Given the description of an element on the screen output the (x, y) to click on. 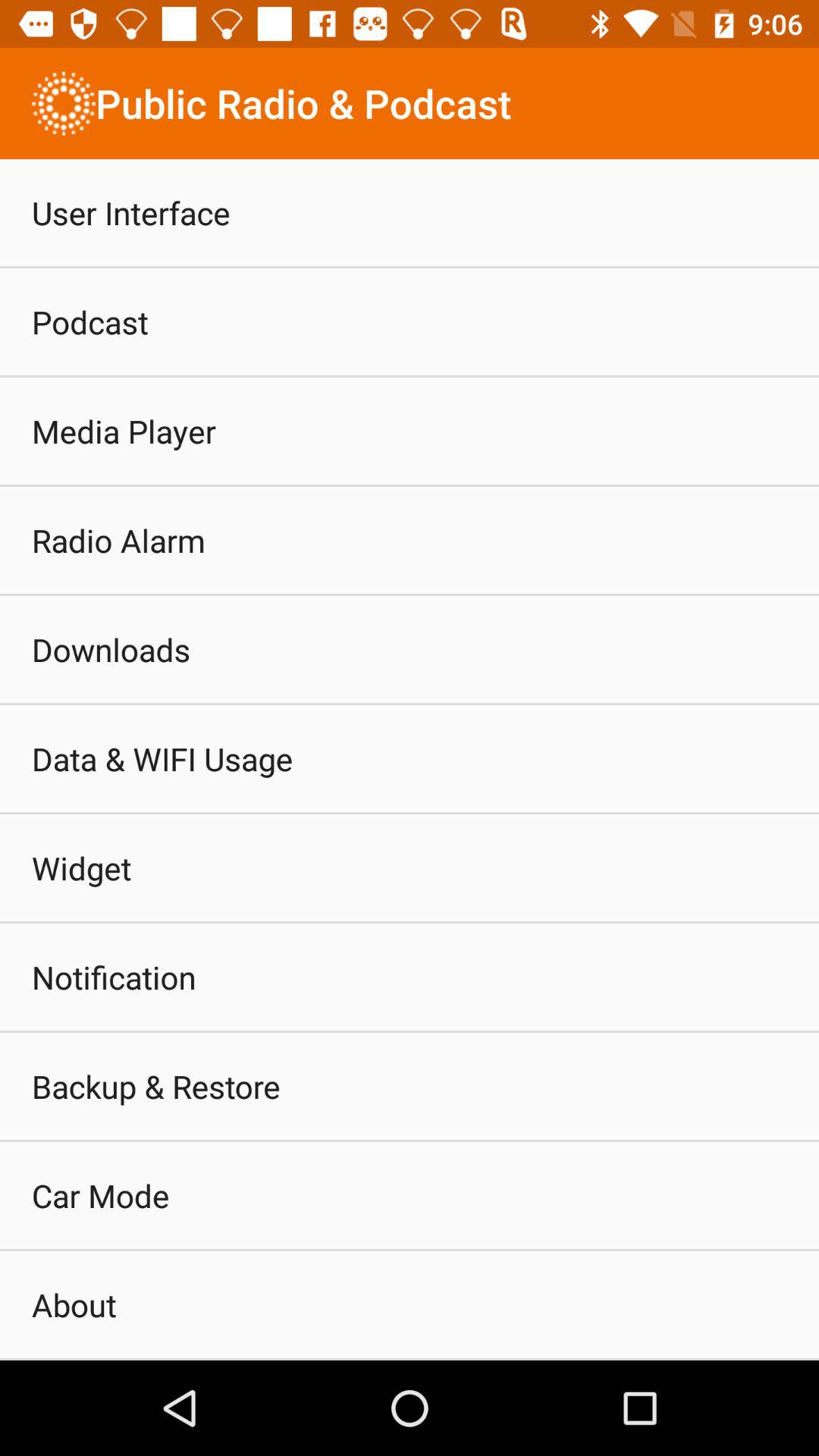
launch the item below notification app (155, 1085)
